Given the description of an element on the screen output the (x, y) to click on. 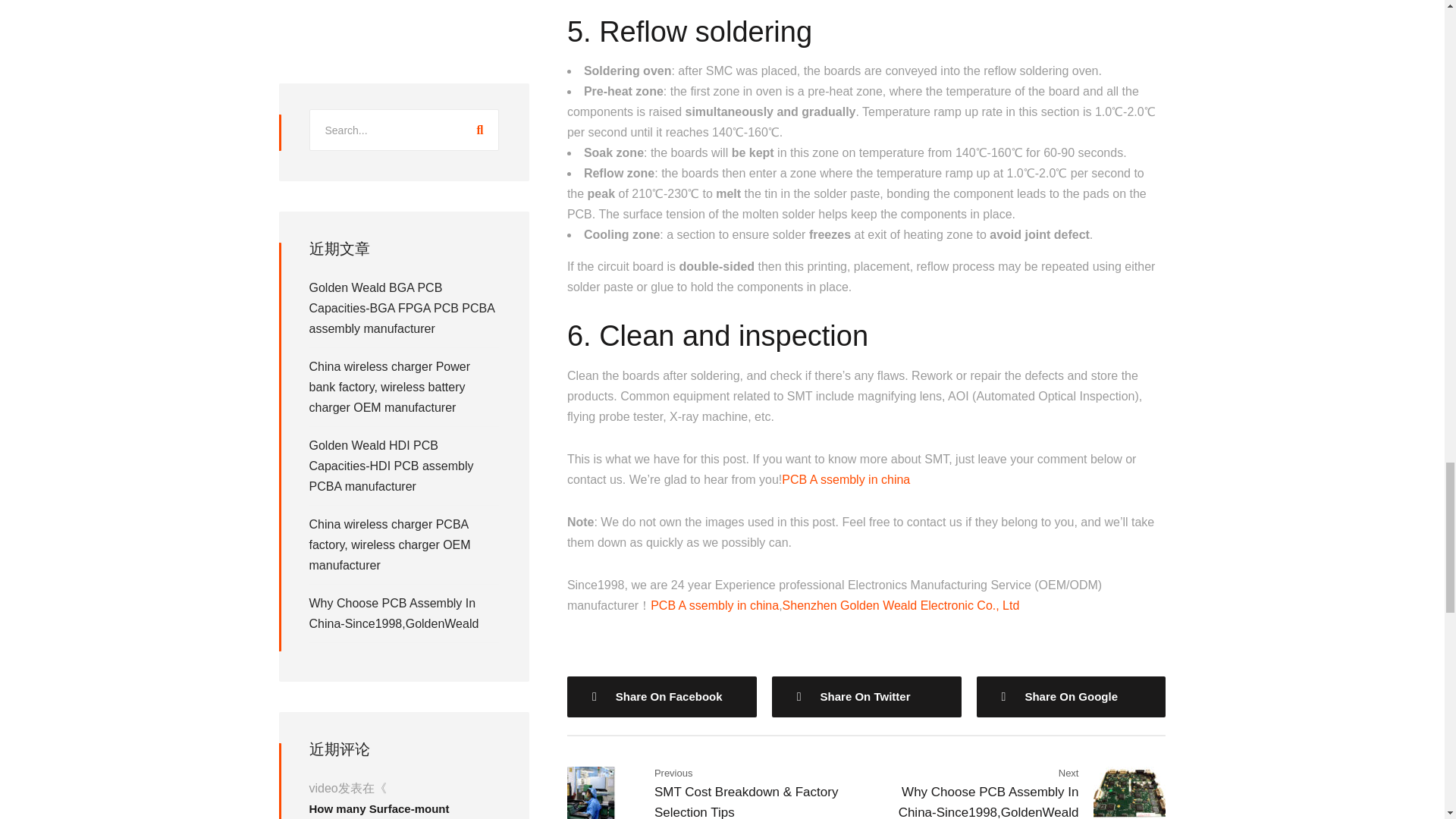
Twitter (865, 696)
Google Plus (1071, 696)
Facebook (662, 696)
